Given the description of an element on the screen output the (x, y) to click on. 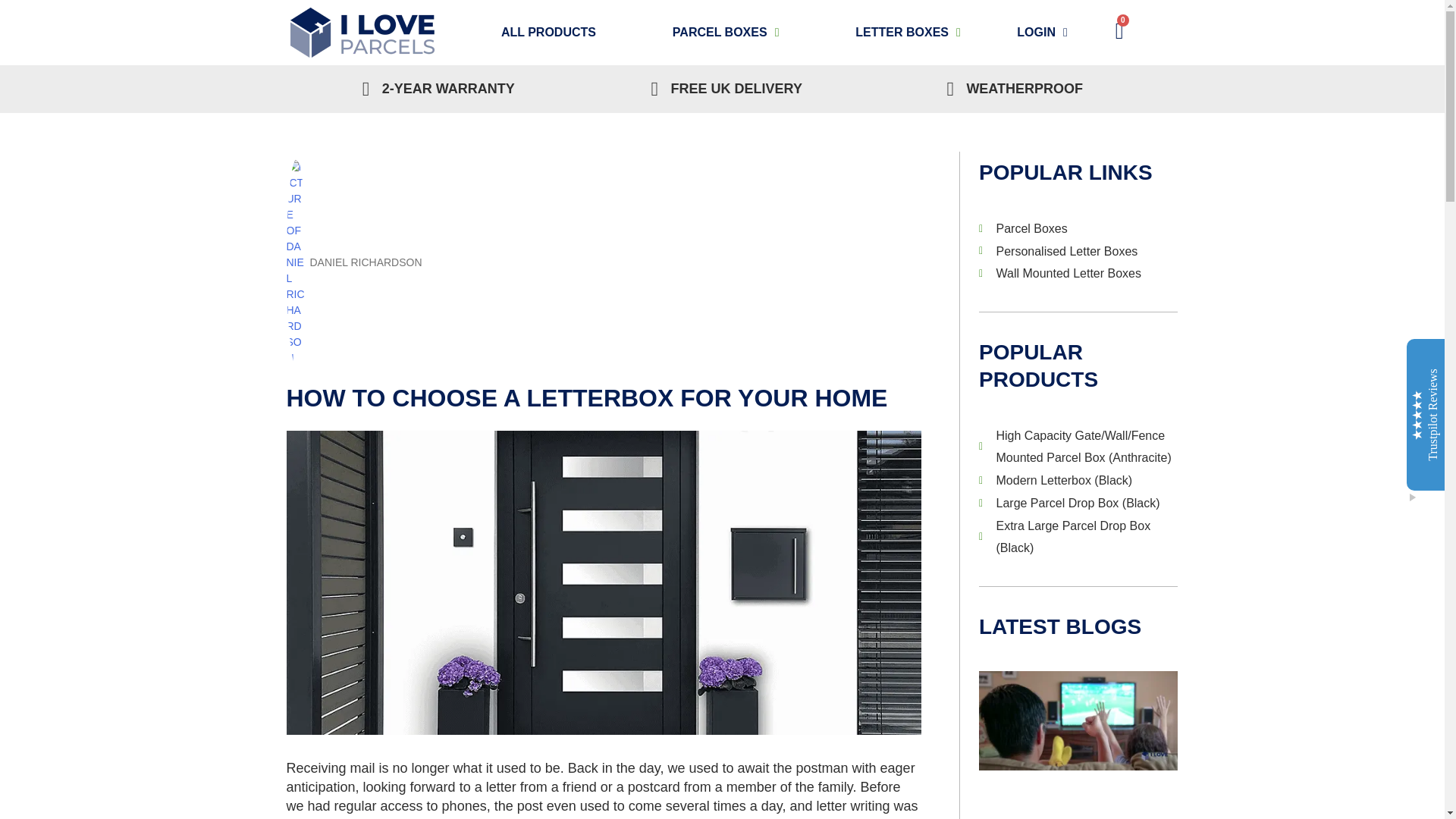
PARCEL BOXES (724, 31)
LETTER BOXES (907, 31)
LOGIN (1042, 32)
ALL PRODUCTS (548, 31)
